Given the description of an element on the screen output the (x, y) to click on. 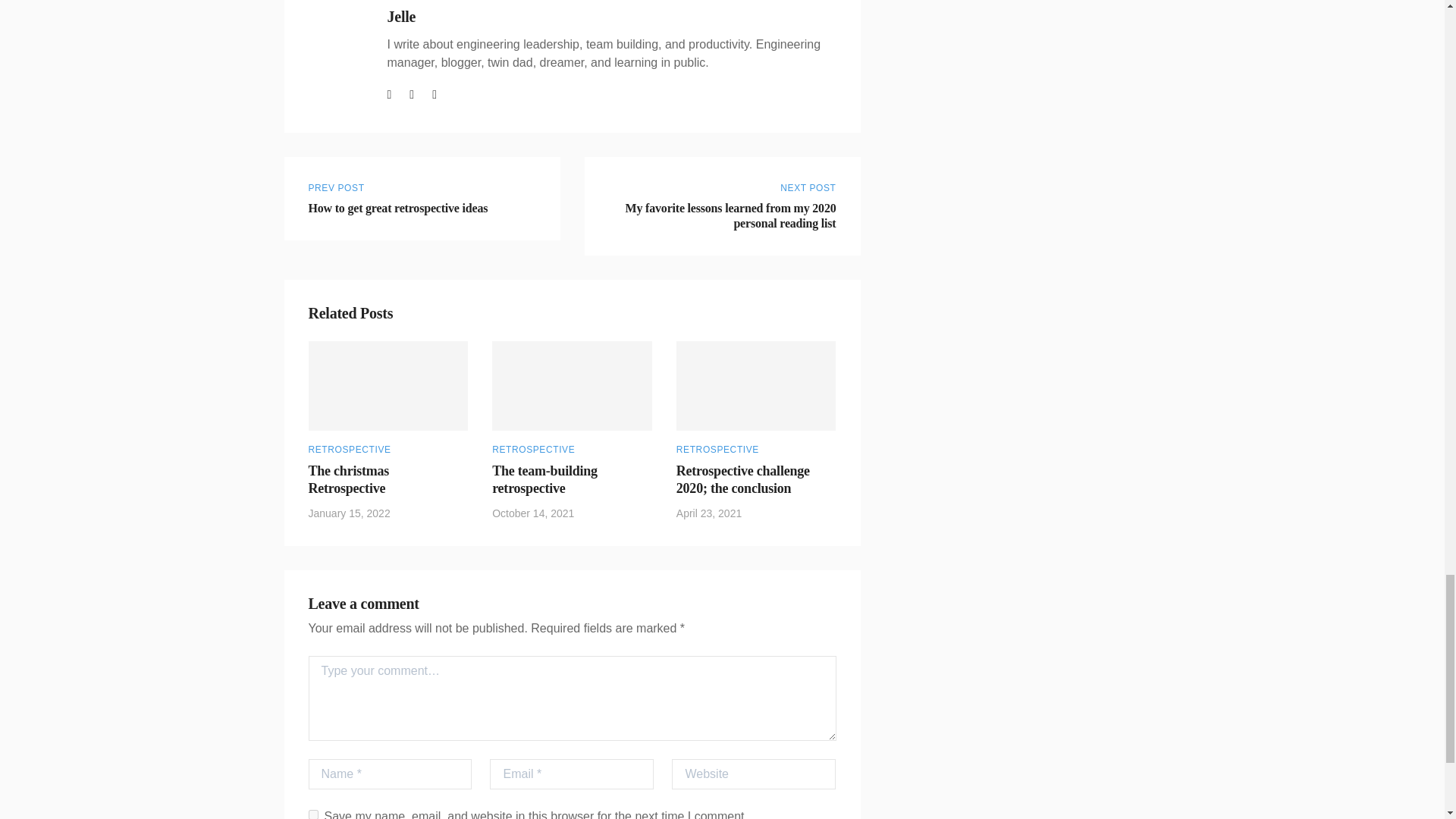
Jelle (400, 16)
RETROSPECTIVE (717, 449)
yes (312, 814)
RETROSPECTIVE (348, 449)
RETROSPECTIVE (533, 449)
The christmas Retrospective (347, 479)
The team-building retrospective (421, 198)
